Given the description of an element on the screen output the (x, y) to click on. 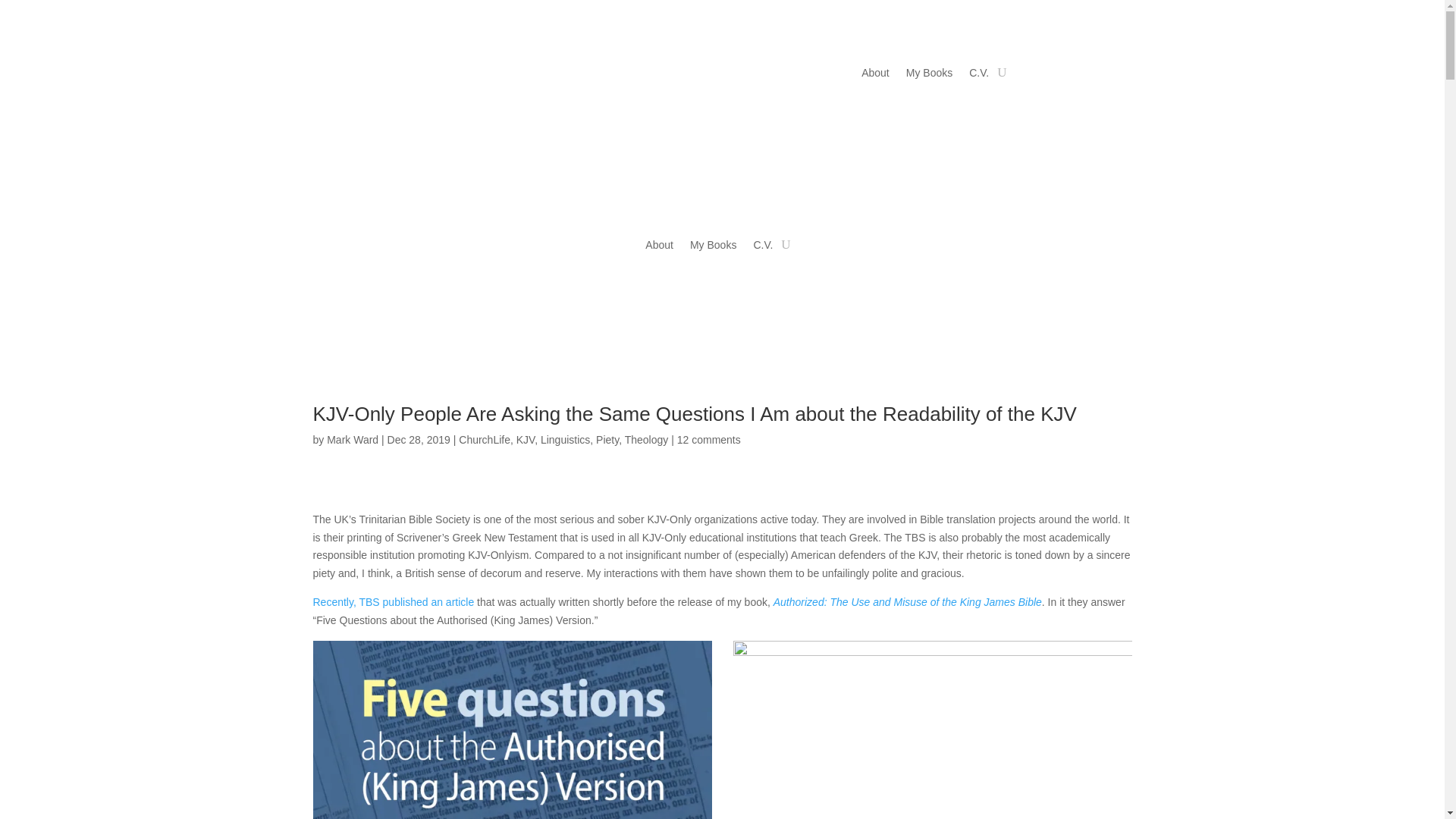
Theology (646, 439)
Mark Ward (352, 439)
C.V. (978, 75)
My Books (928, 75)
Recently, TBS published an article (393, 602)
KJV (525, 439)
About (875, 75)
C.V. (762, 247)
ChurchLife (484, 439)
Piety (606, 439)
12 comments (709, 439)
About (658, 247)
My Books (713, 247)
Authorized: The Use and Misuse of the King James Bible (907, 602)
Linguistics (564, 439)
